Given the description of an element on the screen output the (x, y) to click on. 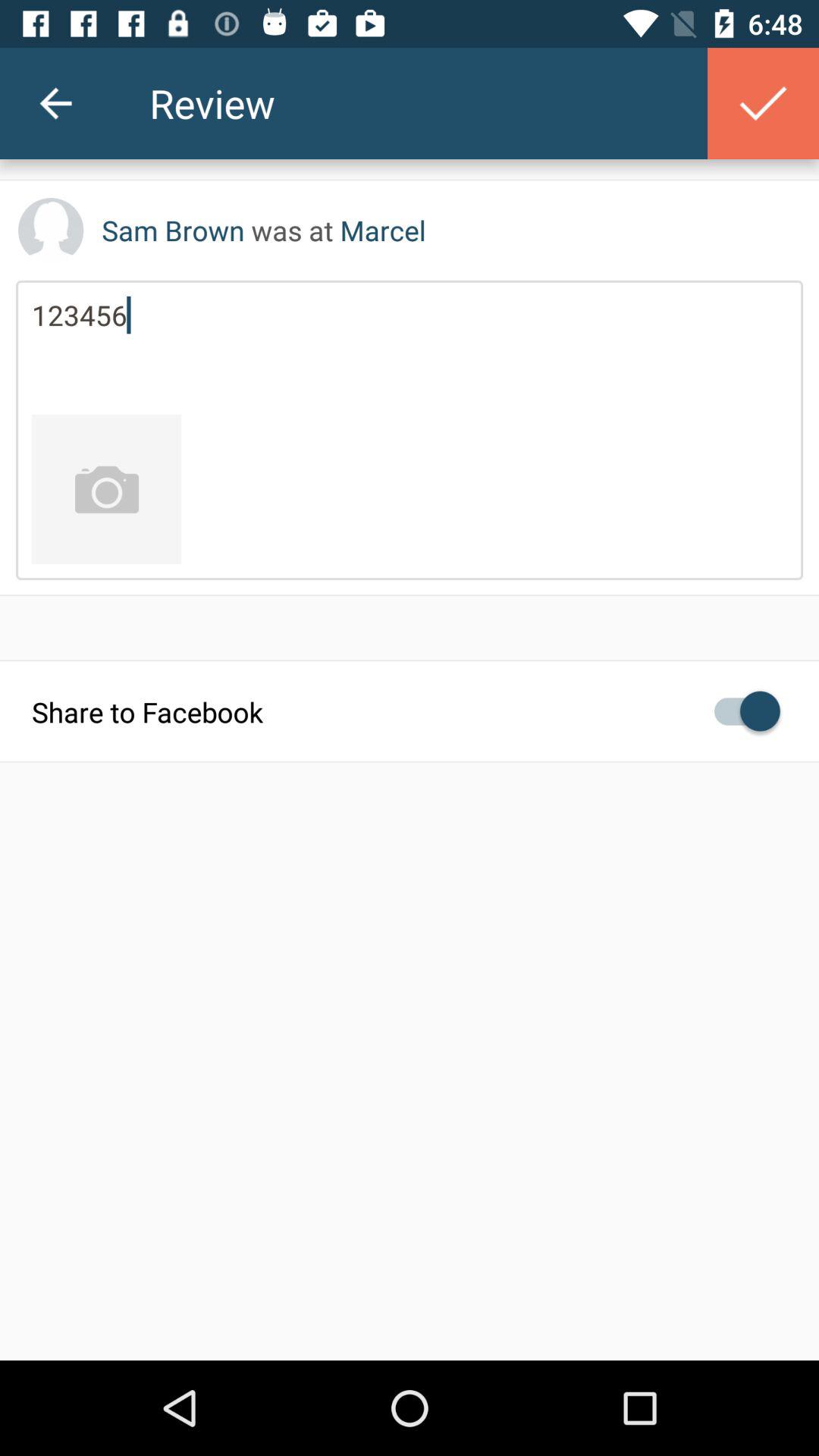
turn off the icon above sam brown was item (55, 103)
